Given the description of an element on the screen output the (x, y) to click on. 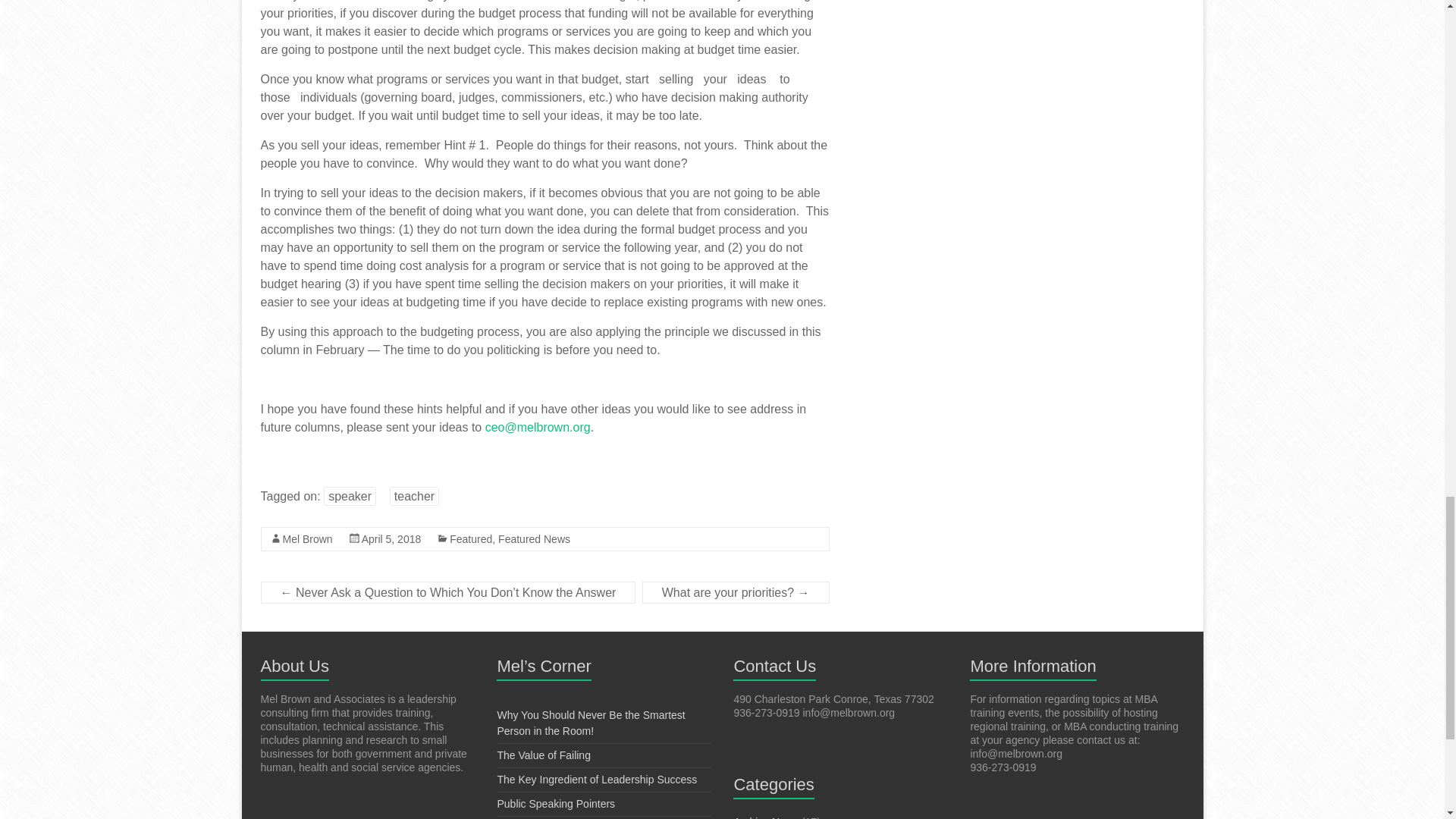
Featured (470, 539)
Featured News (533, 539)
The Value of Failing (542, 755)
Why You Should Never Be the Smartest Person in the Room! (590, 723)
Public Speaking Pointers (555, 803)
The Key Ingredient of Leadership Success (596, 779)
7:53 am (391, 539)
teacher (414, 496)
April 5, 2018 (391, 539)
Mel Brown (306, 539)
speaker (349, 496)
Archive News (765, 817)
